Given the description of an element on the screen output the (x, y) to click on. 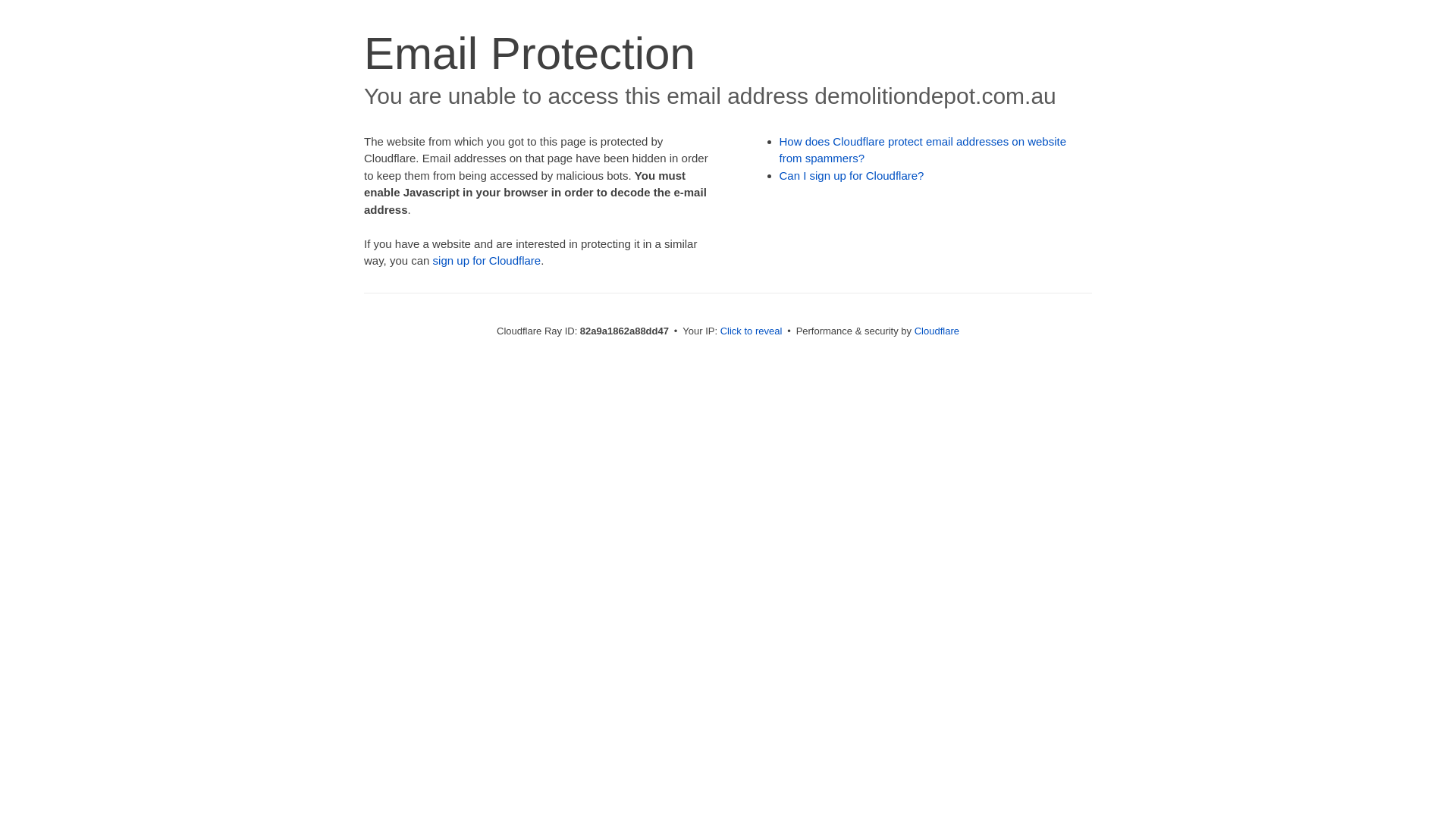
Click to reveal Element type: text (751, 330)
Cloudflare Element type: text (936, 330)
sign up for Cloudflare Element type: text (487, 260)
Can I sign up for Cloudflare? Element type: text (851, 175)
